Given the description of an element on the screen output the (x, y) to click on. 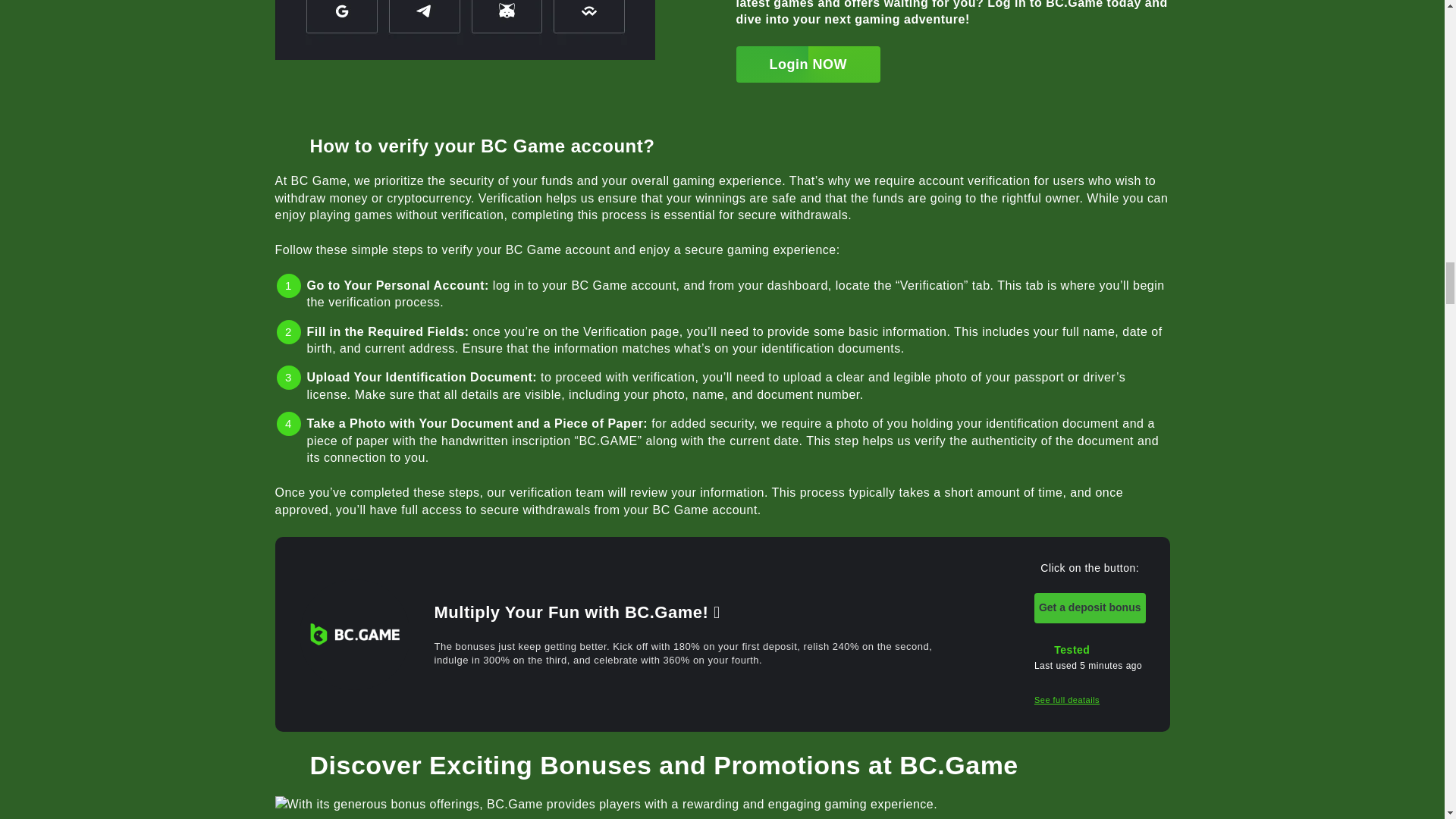
Get a deposit bonus (1089, 607)
Get a deposit bonus (1090, 607)
Login NOW (807, 63)
